Given the description of an element on the screen output the (x, y) to click on. 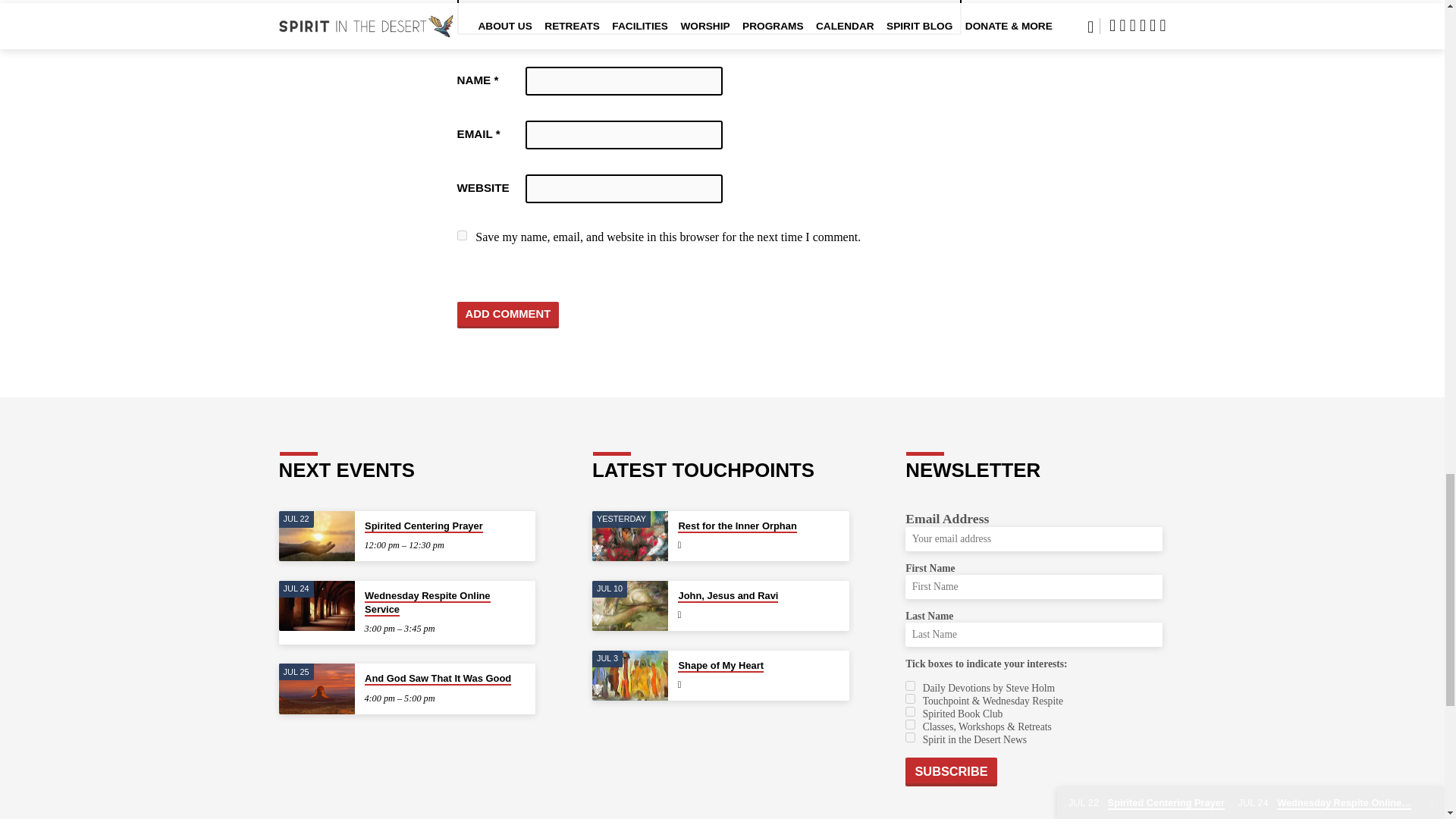
f19ab91031 (910, 685)
Wednesday Respite Online Service (317, 605)
44e0e54a7c (910, 698)
db06863268 (910, 737)
Add Comment (508, 315)
Spirited Centering Prayer (424, 526)
Wednesday Respite Online Service (427, 602)
451e56ae58 (910, 711)
Subscribe (951, 771)
yes (461, 235)
e15f548fa0 (910, 724)
Spirited Centering Prayer (317, 536)
